Given the description of an element on the screen output the (x, y) to click on. 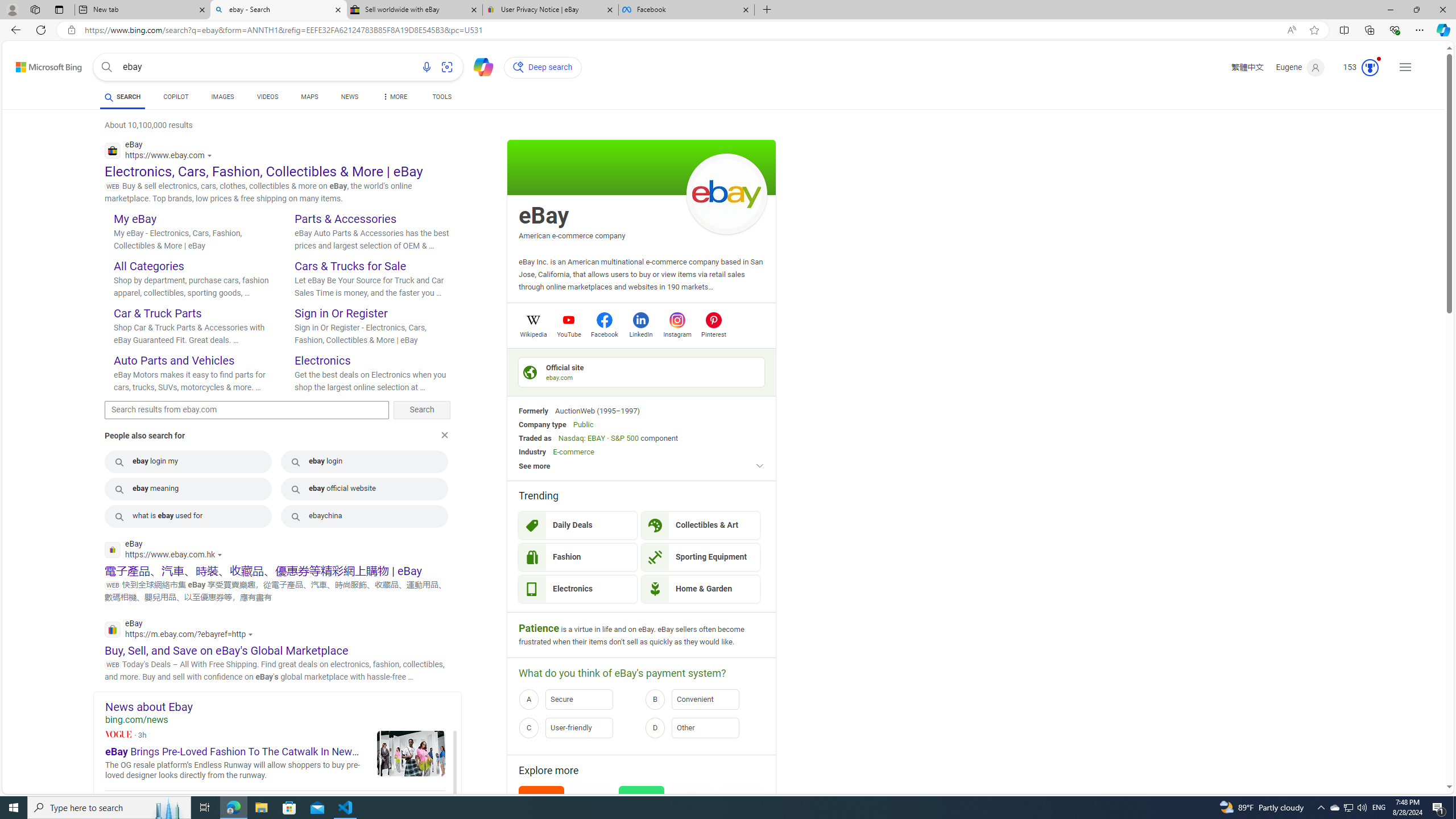
Buy, Sell, and Save on eBay's Global Marketplace (225, 649)
Vogue (117, 733)
D Other (704, 727)
Settings and quick links (1404, 67)
Nasdaq (570, 438)
AutomationID: mfa_root (1406, 752)
VIDEOS (267, 98)
Traded as (534, 438)
ebaychina (364, 515)
